Given the description of an element on the screen output the (x, y) to click on. 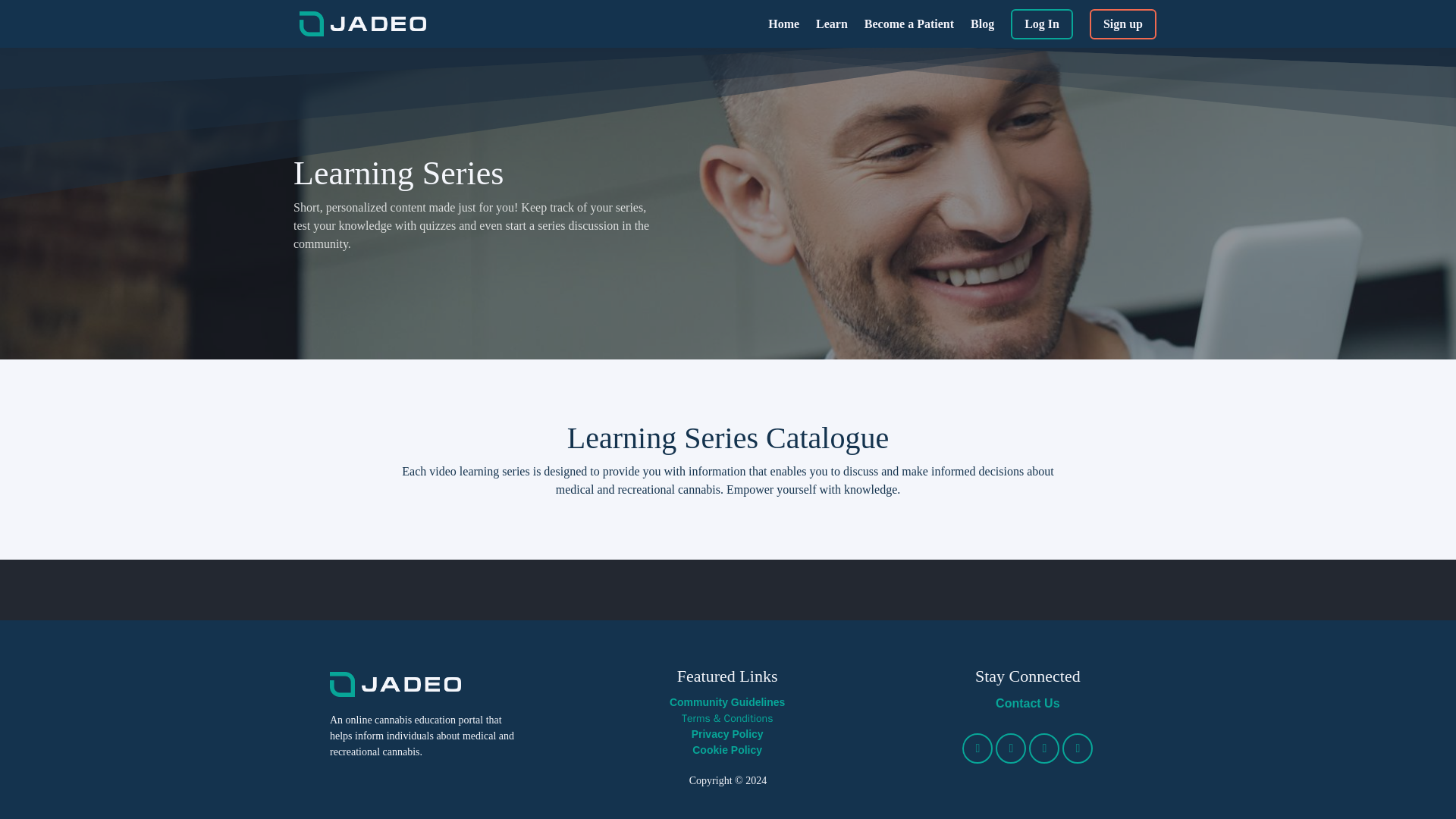
Learn (831, 24)
Cookie Policy (726, 750)
Home (783, 24)
Become a Patient (908, 24)
Log In (1041, 24)
Community Guidelines (726, 702)
Sign up (1122, 24)
Blog (982, 24)
Contact Us (1027, 703)
Privacy Policy (726, 734)
